Given the description of an element on the screen output the (x, y) to click on. 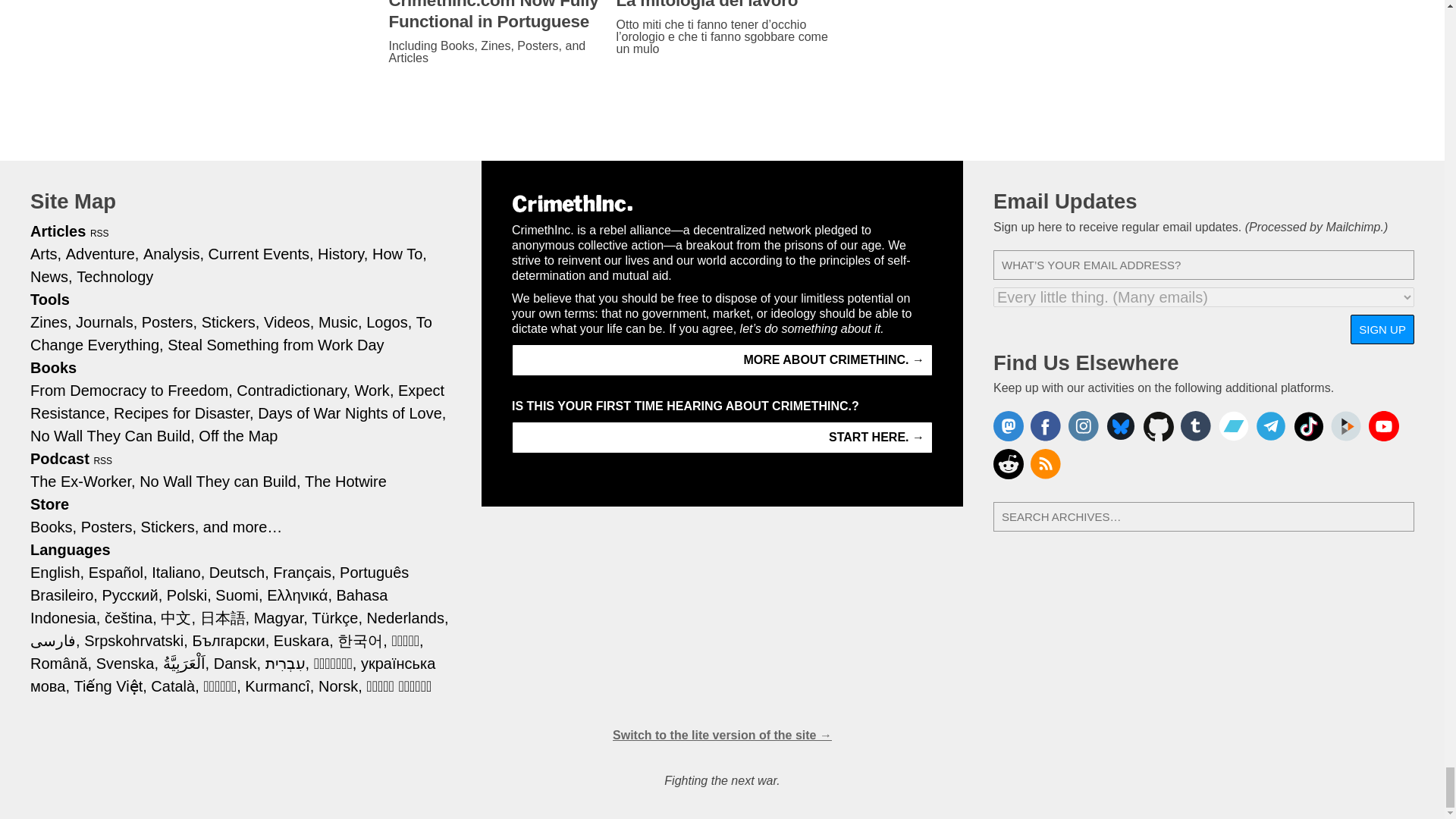
Analysis (172, 253)
Adventure (102, 253)
Articles (57, 230)
History (342, 253)
Arts (45, 253)
News (51, 276)
La mitologia del lavoro (721, 5)
Journals (105, 321)
Current Events (261, 253)
Including Books, Zines, Posters, and Articles (493, 52)
